Given the description of an element on the screen output the (x, y) to click on. 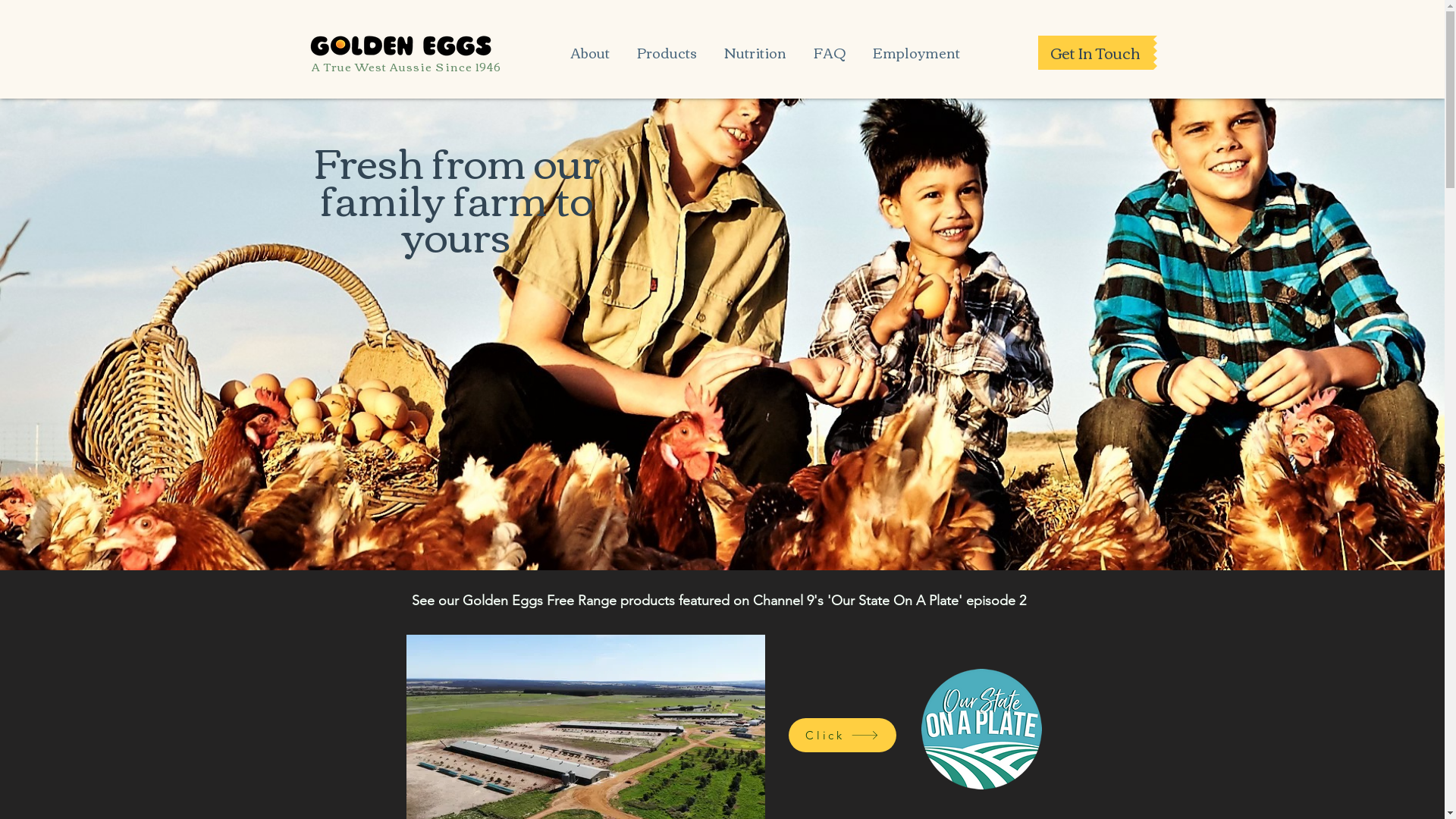
Click Element type: text (842, 734)
About Element type: text (589, 45)
Employment Element type: text (915, 45)
A True West Aussie Since 1946 Element type: text (405, 66)
Get In Touch Element type: text (1094, 52)
FAQ Element type: text (828, 45)
Nutrition Element type: text (754, 45)
State on a PLate Logo.png Element type: hover (980, 728)
Products Element type: text (666, 45)
